Given the description of an element on the screen output the (x, y) to click on. 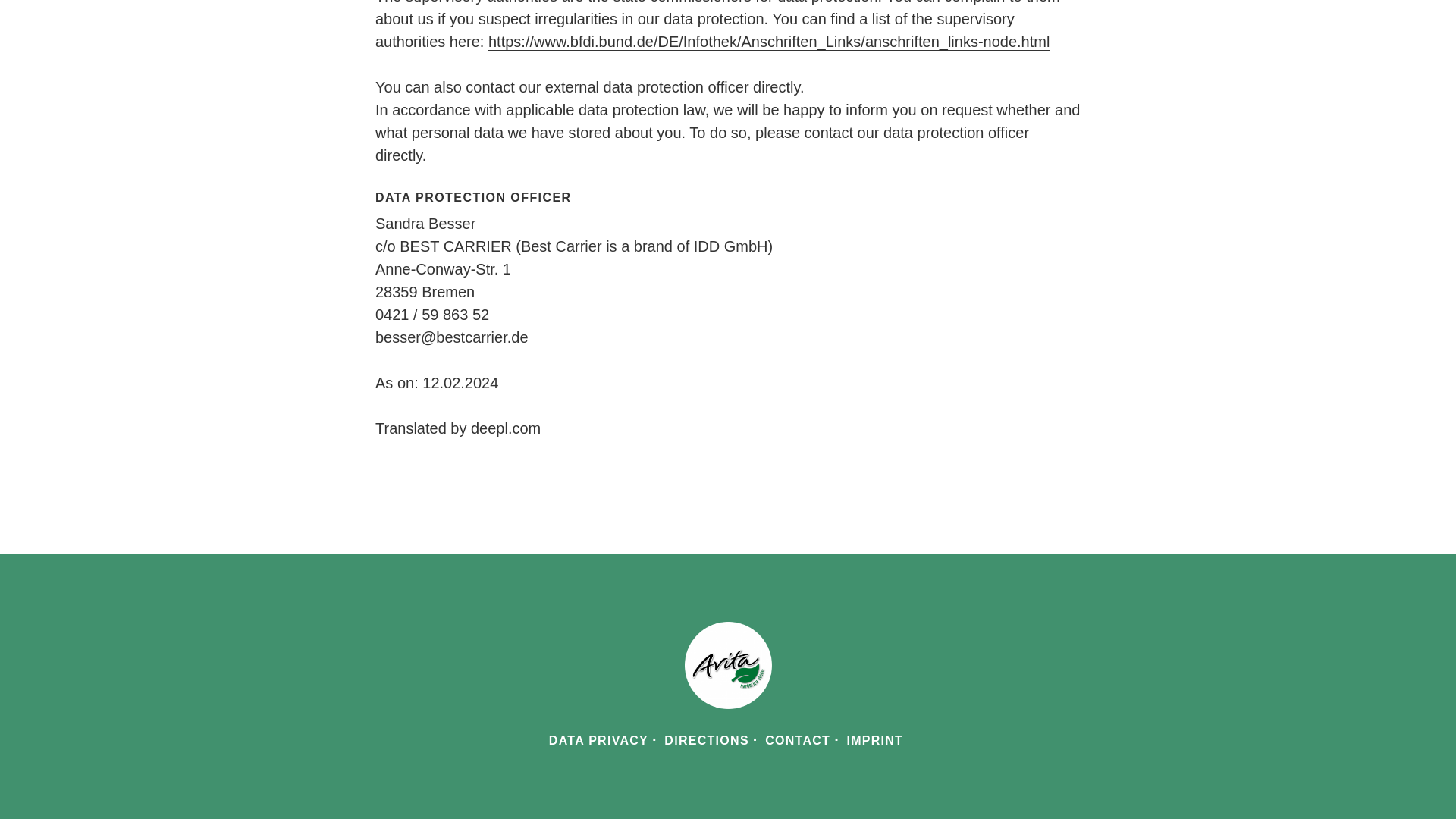
IMPRINT (873, 739)
CONTACT (797, 739)
DIRECTIONS (705, 739)
DATA PRIVACY (597, 739)
